Given the description of an element on the screen output the (x, y) to click on. 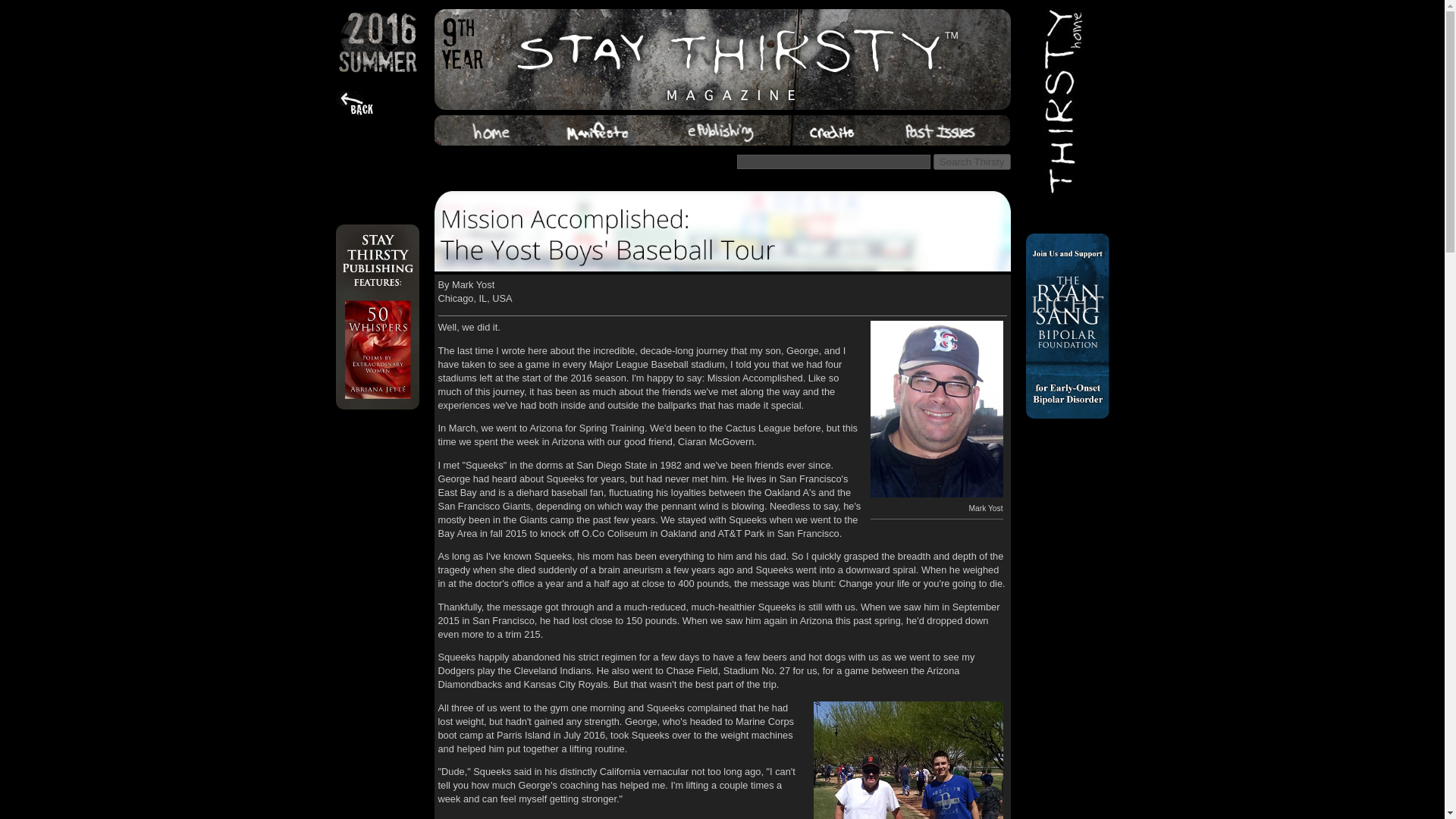
Search Thirsty (971, 161)
Search Thirsty (971, 161)
